Given the description of an element on the screen output the (x, y) to click on. 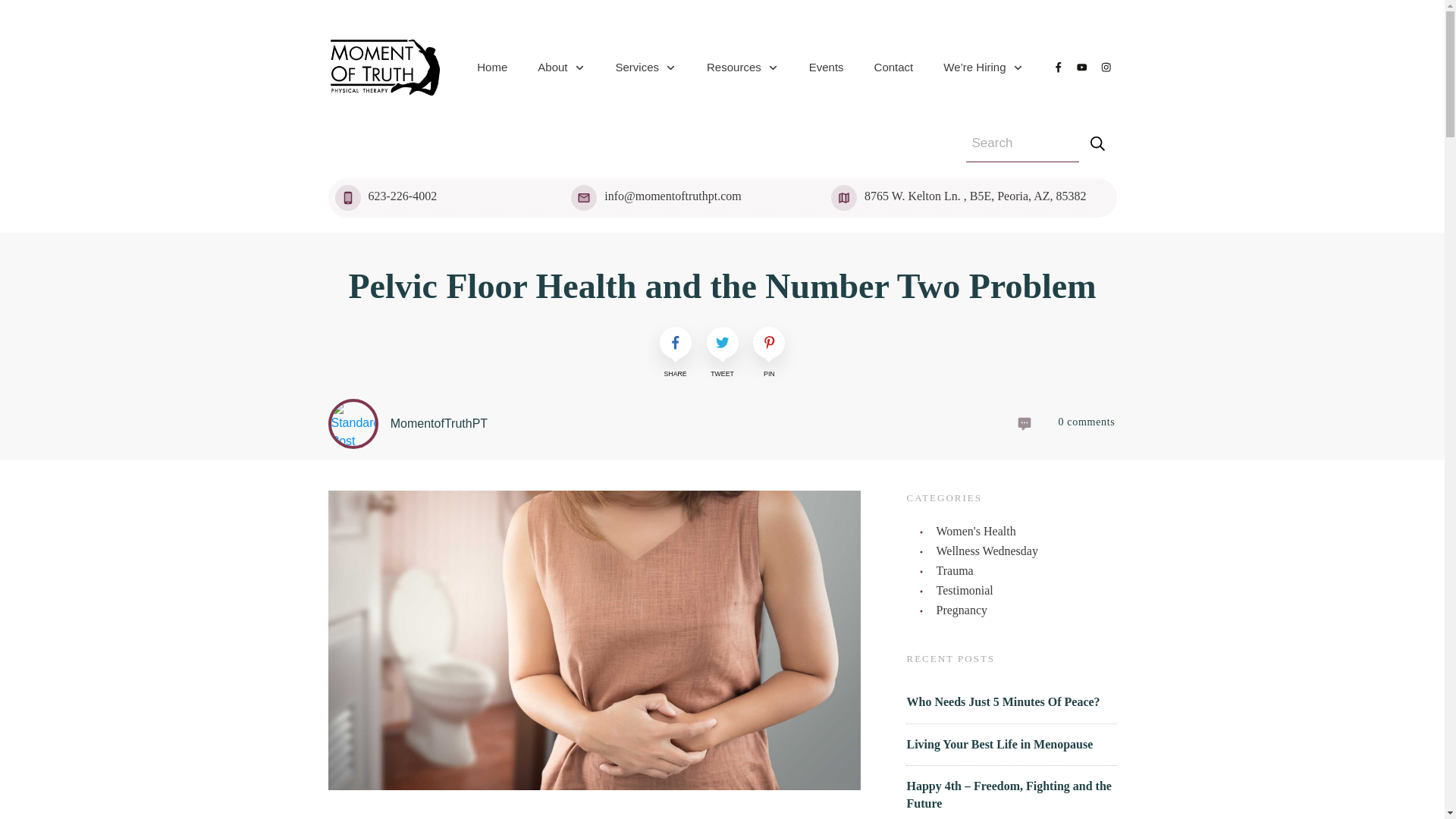
Contact (894, 67)
Pelvic Floor Health and the Number Two Problem (722, 285)
Events (826, 67)
Pelvic Floor Health and the Number Two Problem (722, 285)
SHARE (675, 354)
Living Your Best Life in Menopause (1000, 744)
Services (646, 67)
Who Needs Just 5 Minutes Of Peace? (1003, 701)
Home (491, 67)
About (561, 67)
TWEET (721, 354)
Standard Post (352, 423)
Resources (742, 67)
